Given the description of an element on the screen output the (x, y) to click on. 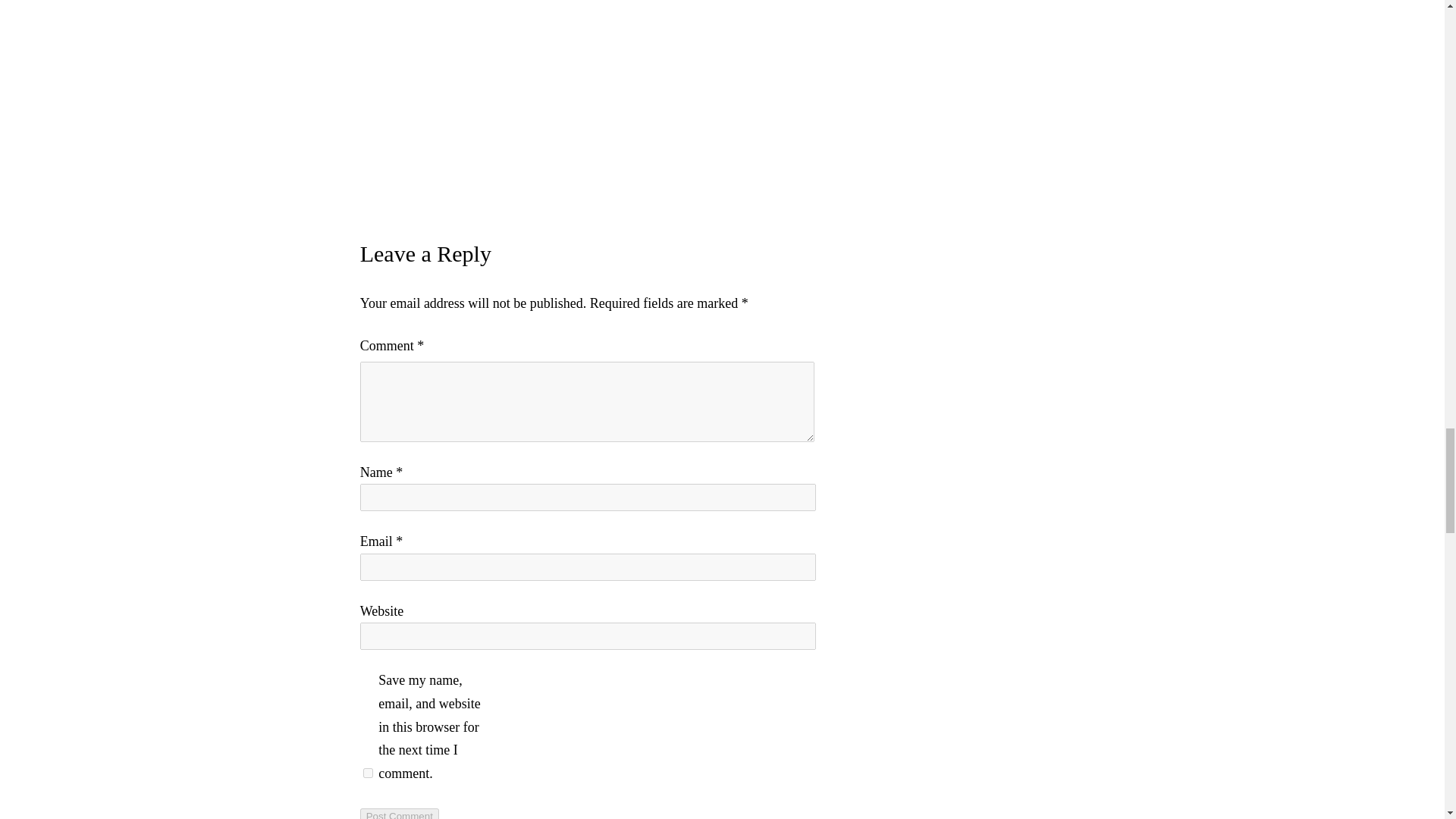
Post Comment (399, 813)
yes (367, 773)
